Given the description of an element on the screen output the (x, y) to click on. 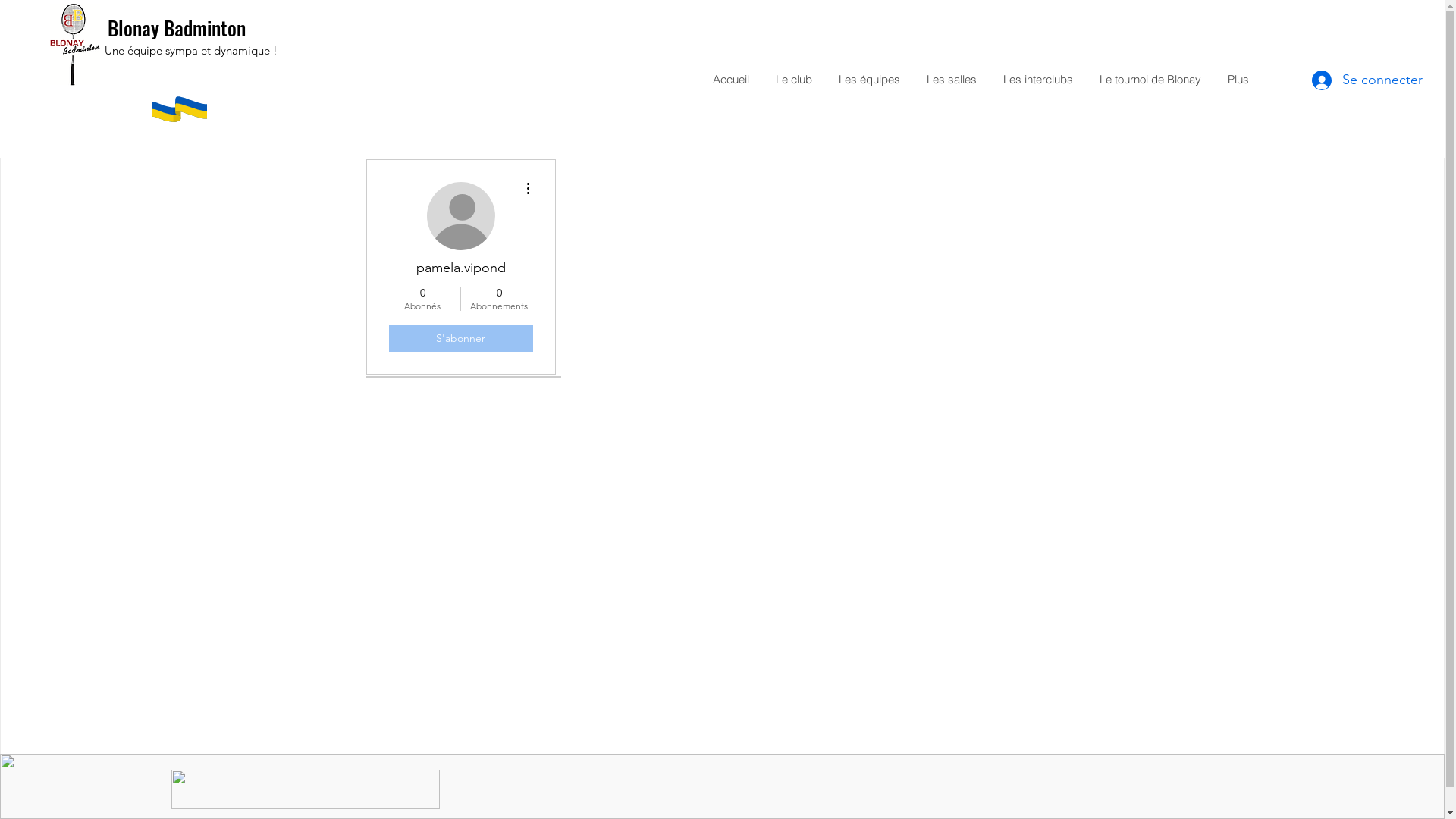
Blonay Badminton Element type: text (176, 27)
Les interclubs Element type: text (1036, 79)
Accueil Element type: text (728, 79)
Les salles Element type: text (949, 79)
S'abonner Element type: text (460, 337)
Le tournoi de Blonay Element type: text (1148, 79)
0
Abonnements Element type: text (499, 298)
Se connecter Element type: text (1348, 80)
Le club Element type: text (791, 79)
altmann.jpg Element type: hover (305, 789)
